Given the description of an element on the screen output the (x, y) to click on. 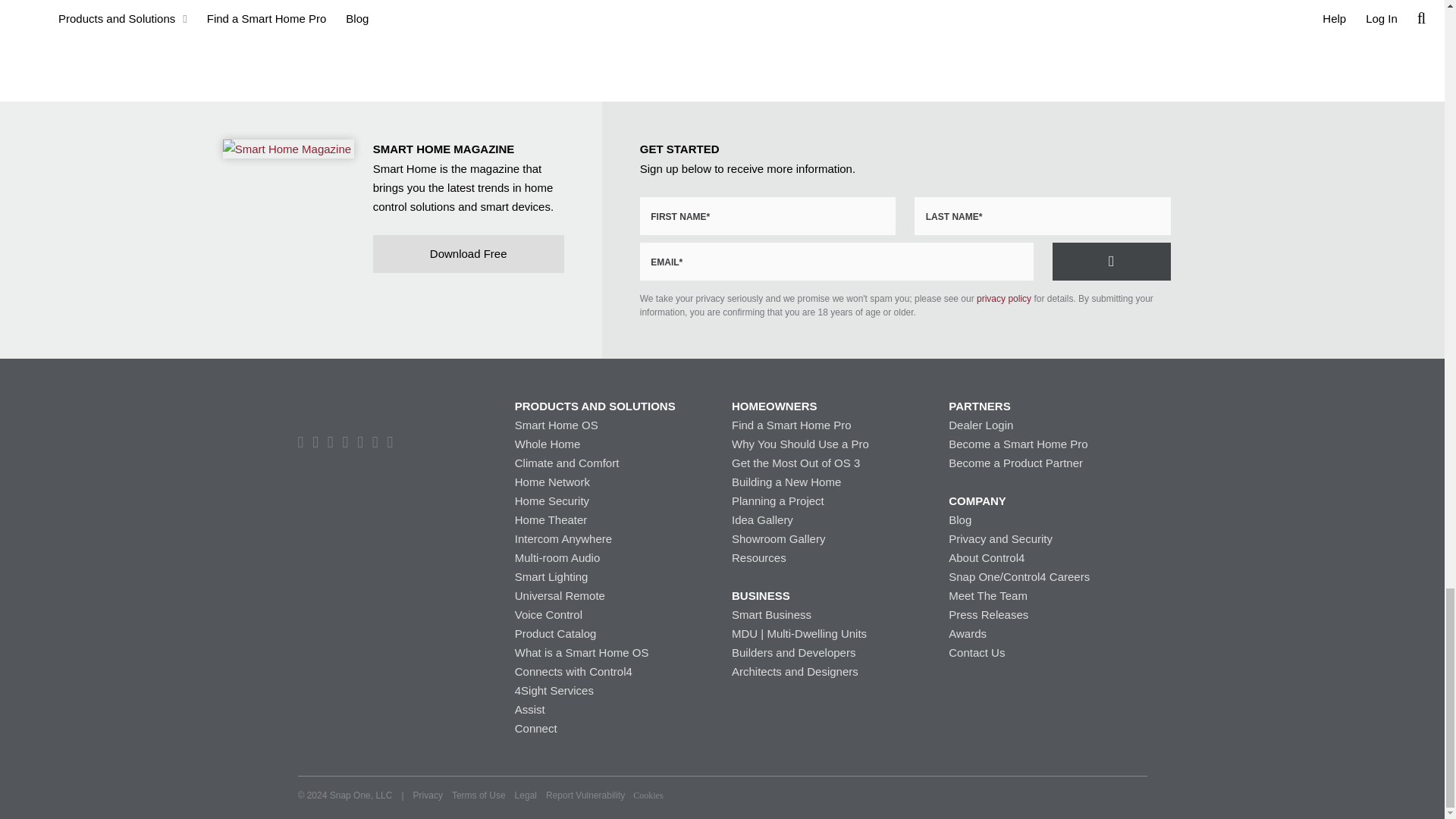
Request More Information (1111, 261)
Control4 Amazon Alexa Skill is Available in New Regions (391, 18)
